Given the description of an element on the screen output the (x, y) to click on. 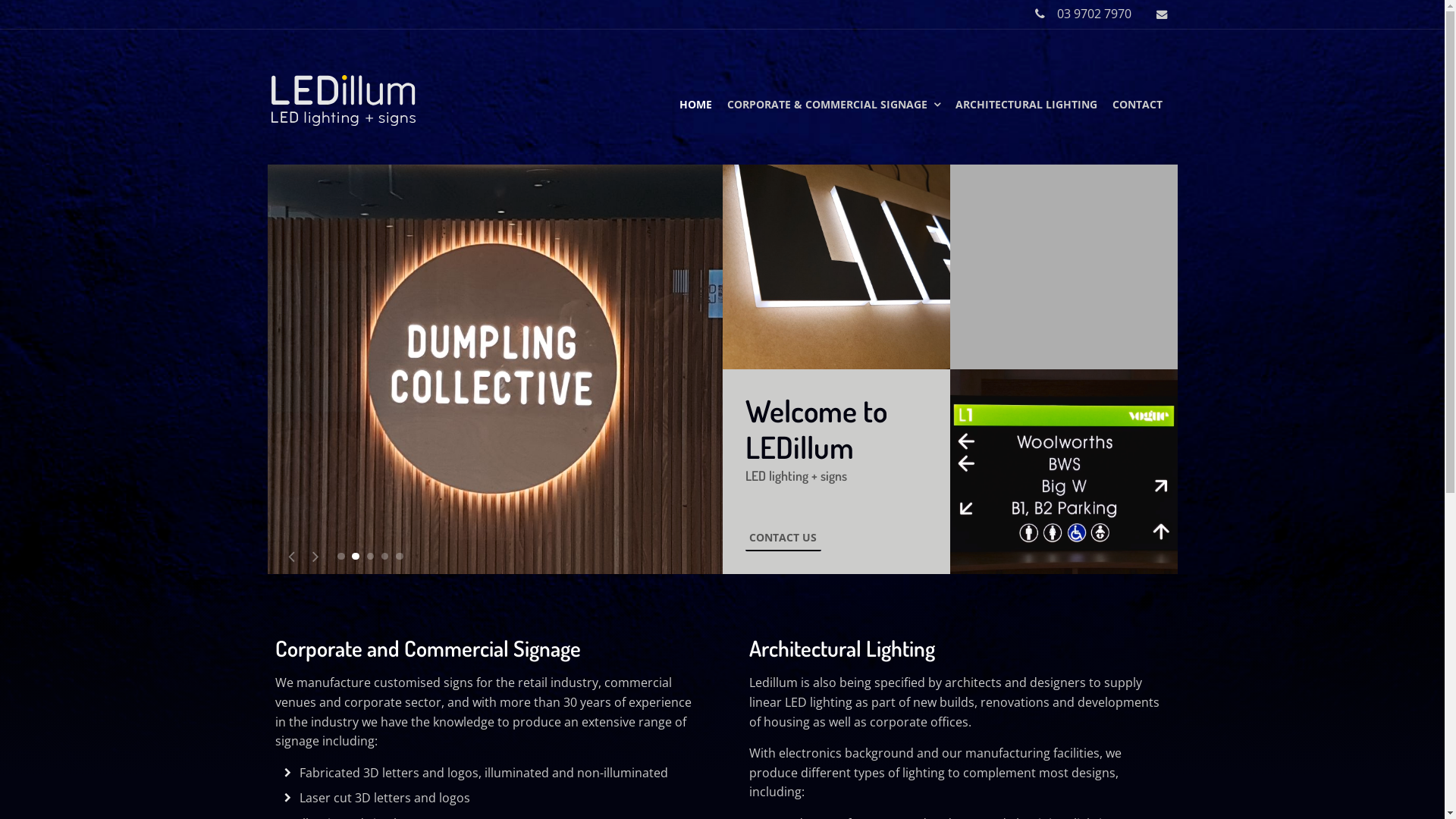
HOME Element type: text (695, 104)
CONTACT Element type: text (1136, 104)
ARCHITECTURAL LIGHTING Element type: text (1025, 104)
CORPORATE & COMMERCIAL SIGNAGE Element type: text (832, 104)
CONTACT US Element type: text (782, 539)
